Given the description of an element on the screen output the (x, y) to click on. 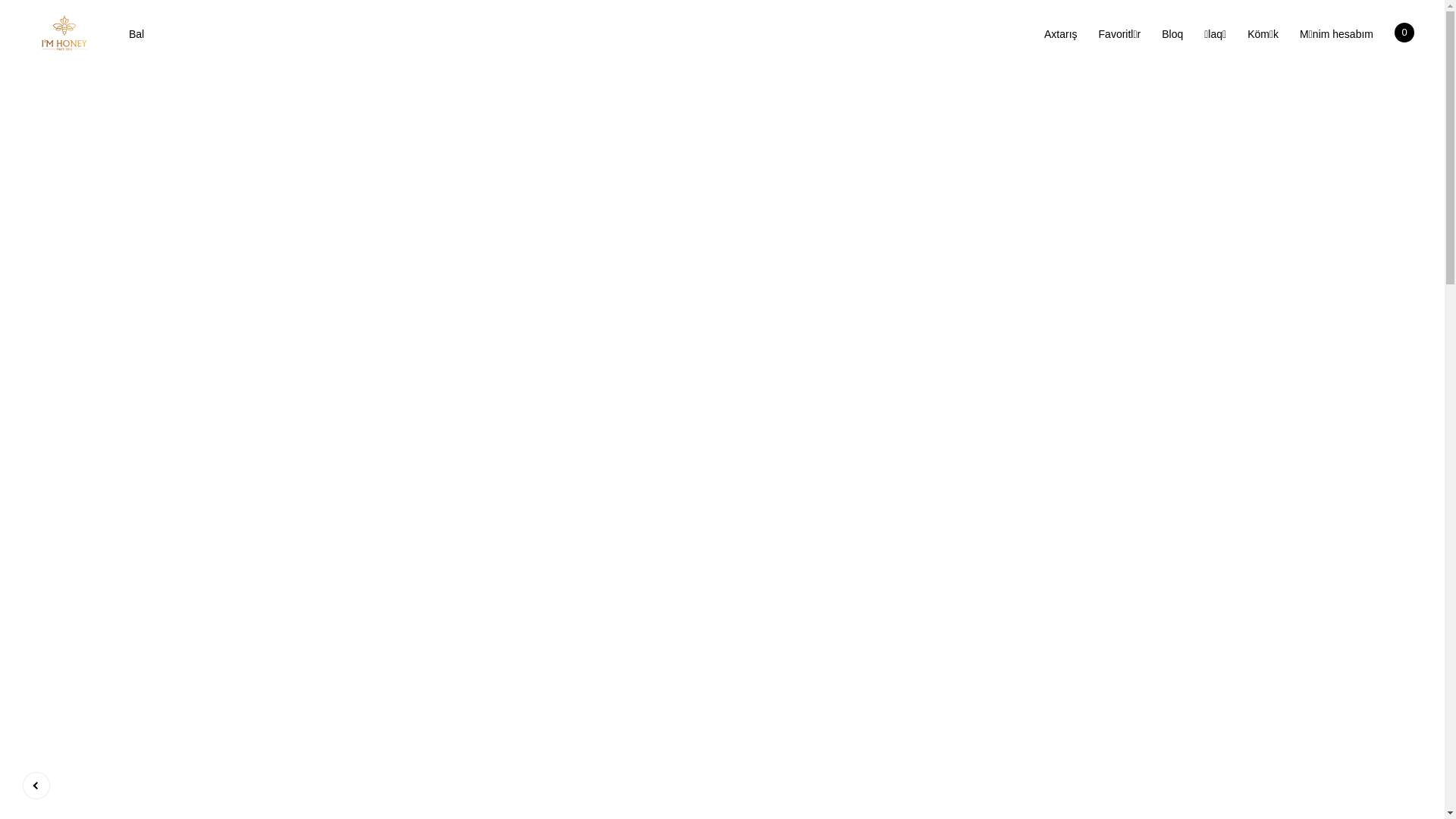
Bloq Element type: text (1172, 33)
1 Element type: text (1341, 269)
Bal Element type: text (136, 33)
0 Element type: text (1404, 32)
